Given the description of an element on the screen output the (x, y) to click on. 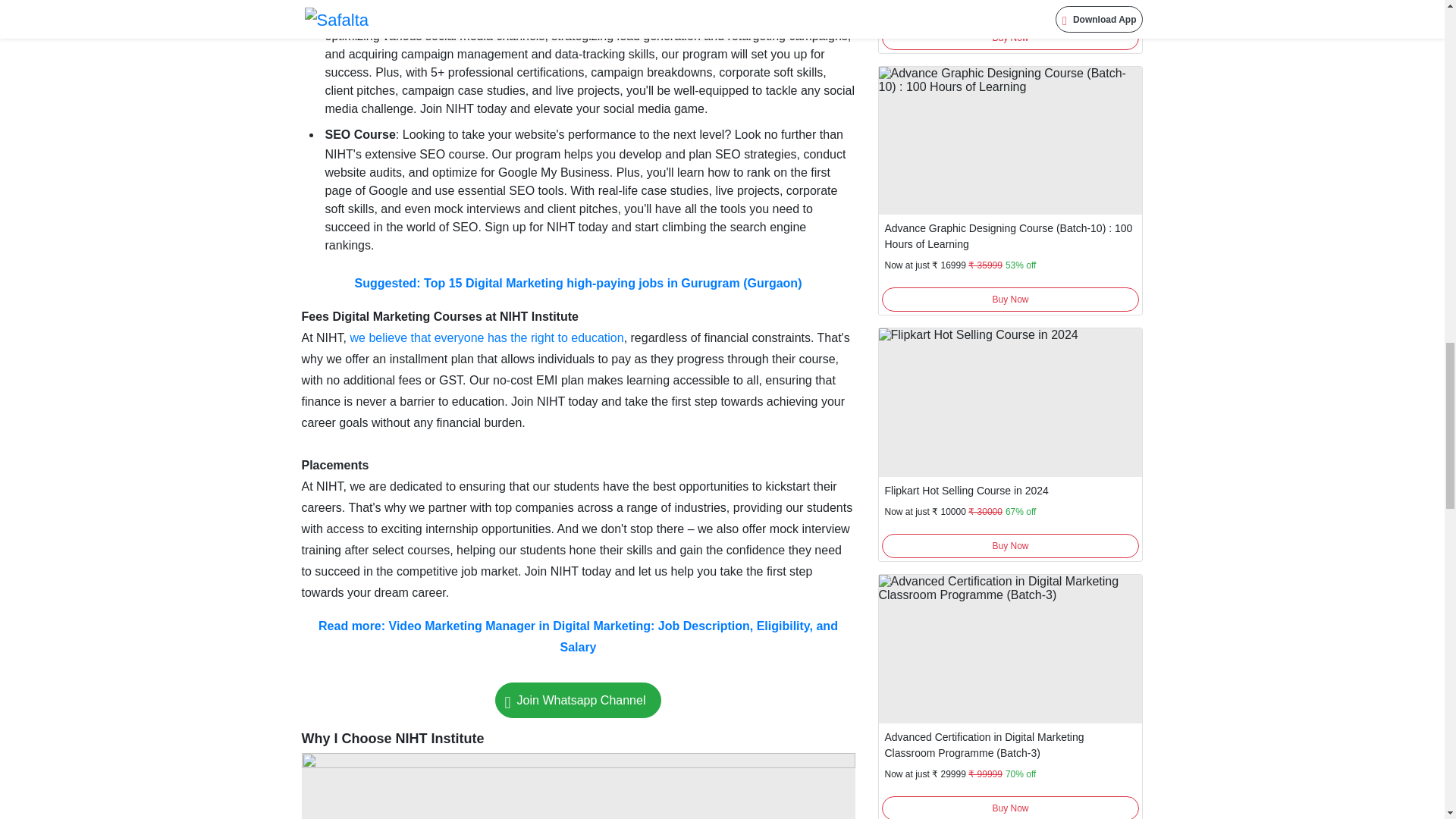
Join Whatsapp Channel (578, 700)
follow our whatsapp channel (578, 700)
we believe that everyone has the right to education (487, 337)
